Given the description of an element on the screen output the (x, y) to click on. 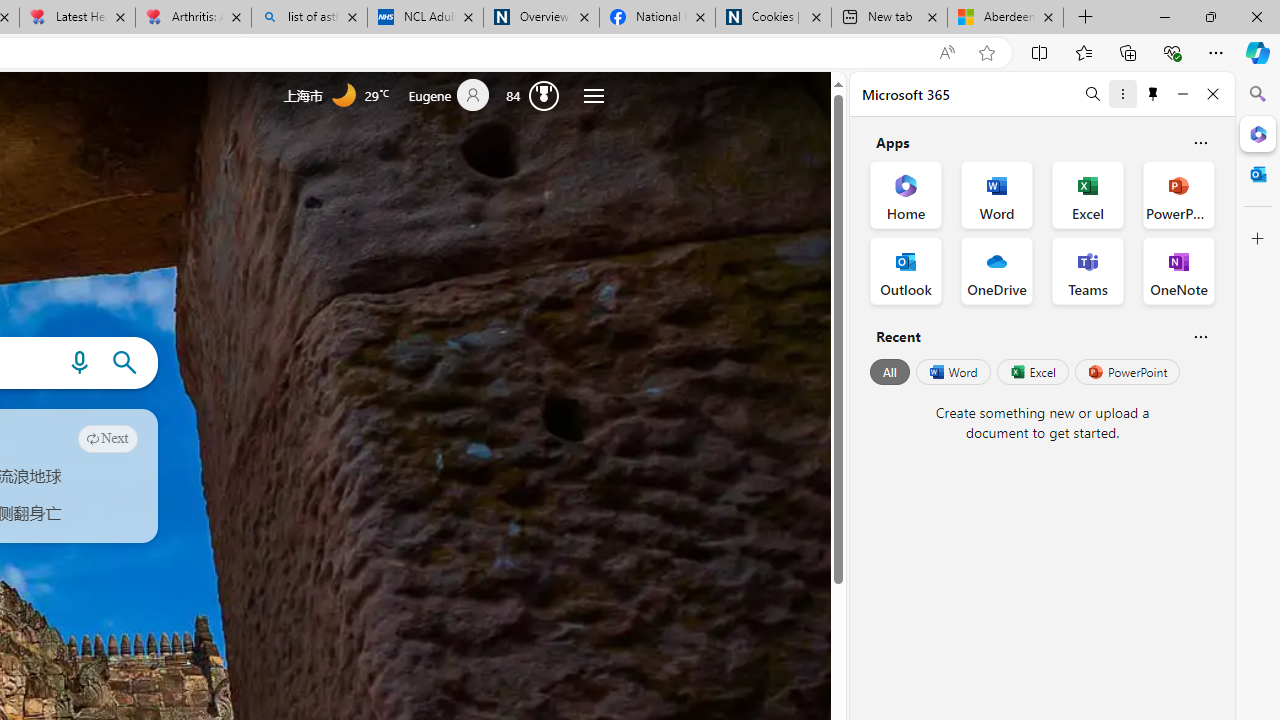
Word Office App (996, 194)
Excel (1031, 372)
